Given the description of an element on the screen output the (x, y) to click on. 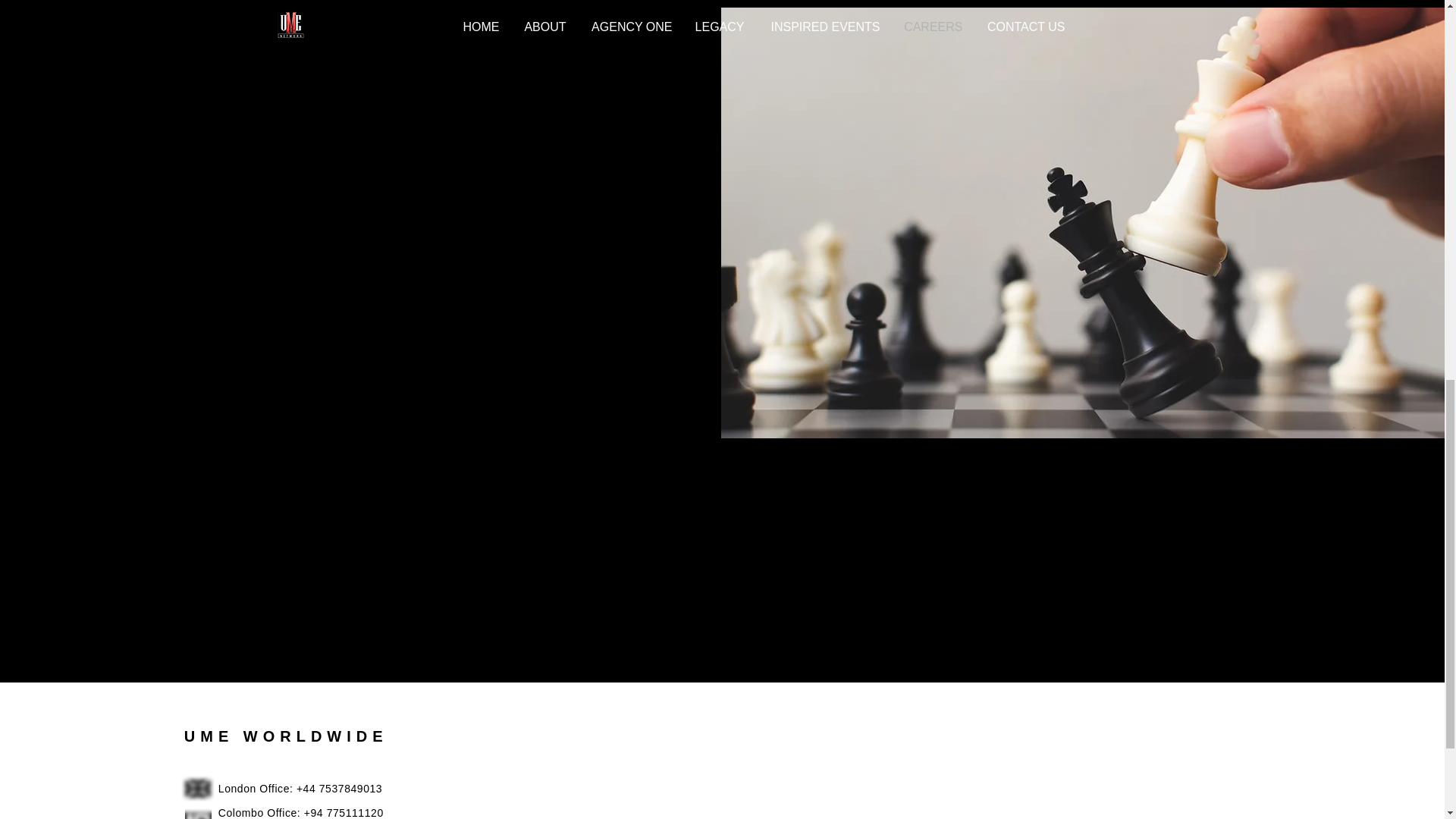
UME WORLDWIDE (286, 736)
41744-200.png (197, 813)
